Given the description of an element on the screen output the (x, y) to click on. 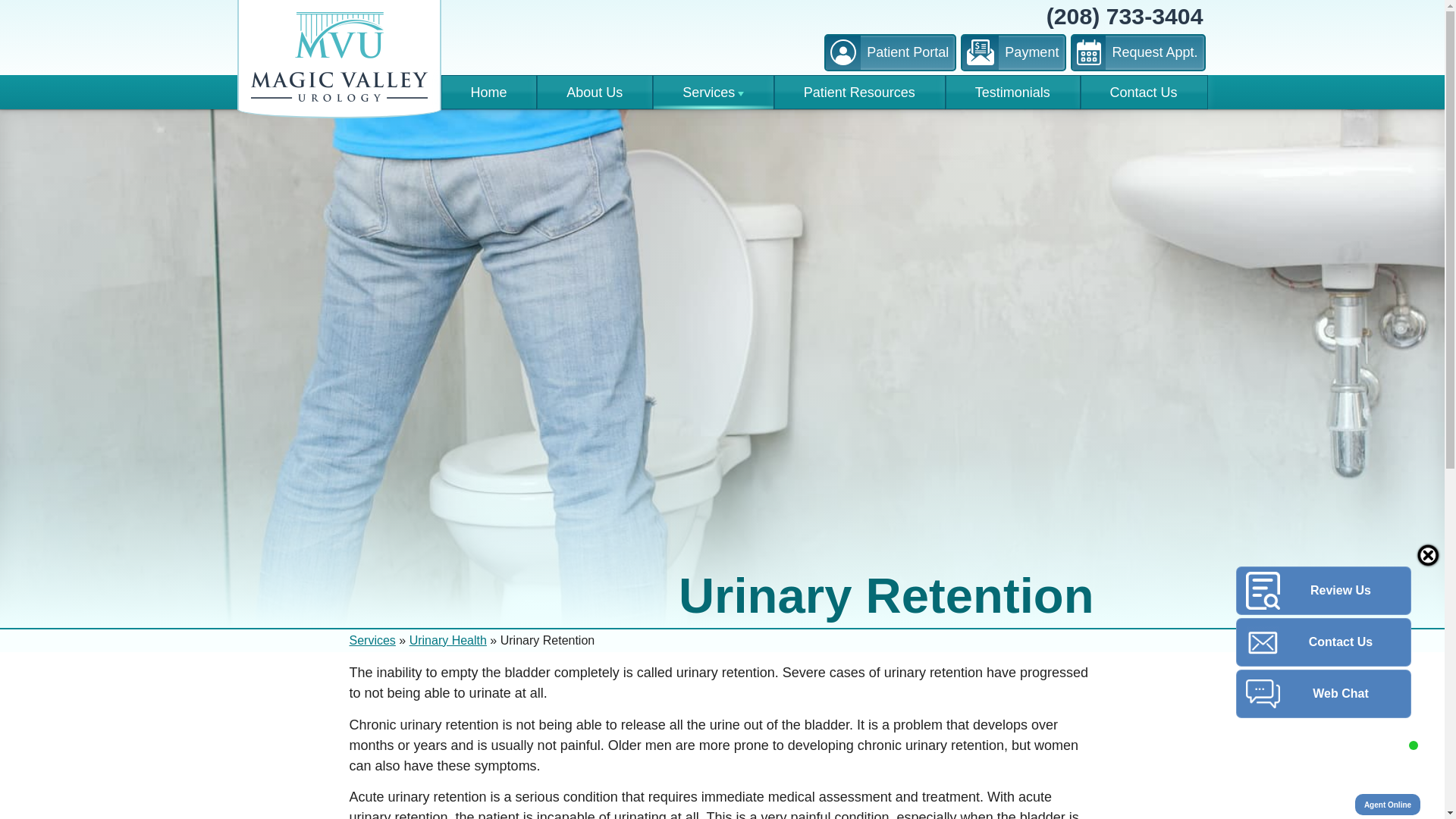
Payment (1012, 52)
Patient Portal (890, 52)
Home (488, 92)
Male Infertility (814, 322)
Kidney Cancer (808, 250)
Percutaneous Nephrolithotomy (826, 321)
Cancer (712, 199)
Testicular Cancer (808, 342)
Vasectomy (817, 413)
Kidney Stones (712, 235)
